Given the description of an element on the screen output the (x, y) to click on. 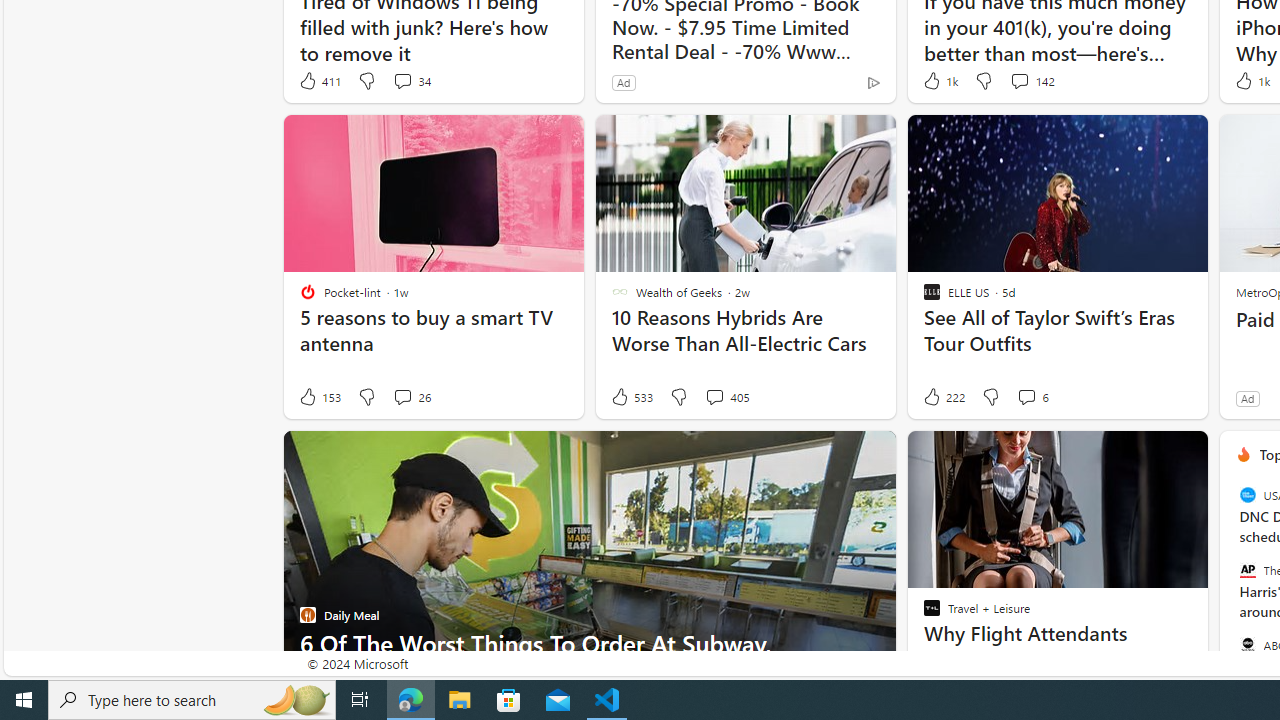
View comments 6 Comment (1026, 396)
Hide this story (1147, 454)
222 Like (942, 397)
View comments 6 Comment (1032, 397)
View comments 142 Comment (1019, 80)
View comments 34 Comment (411, 80)
View comments 142 Comment (1031, 80)
View comments 26 Comment (411, 397)
411 Like (319, 80)
ABC News (1247, 644)
View comments 405 Comment (726, 397)
The Associated Press (1247, 570)
